Given the description of an element on the screen output the (x, y) to click on. 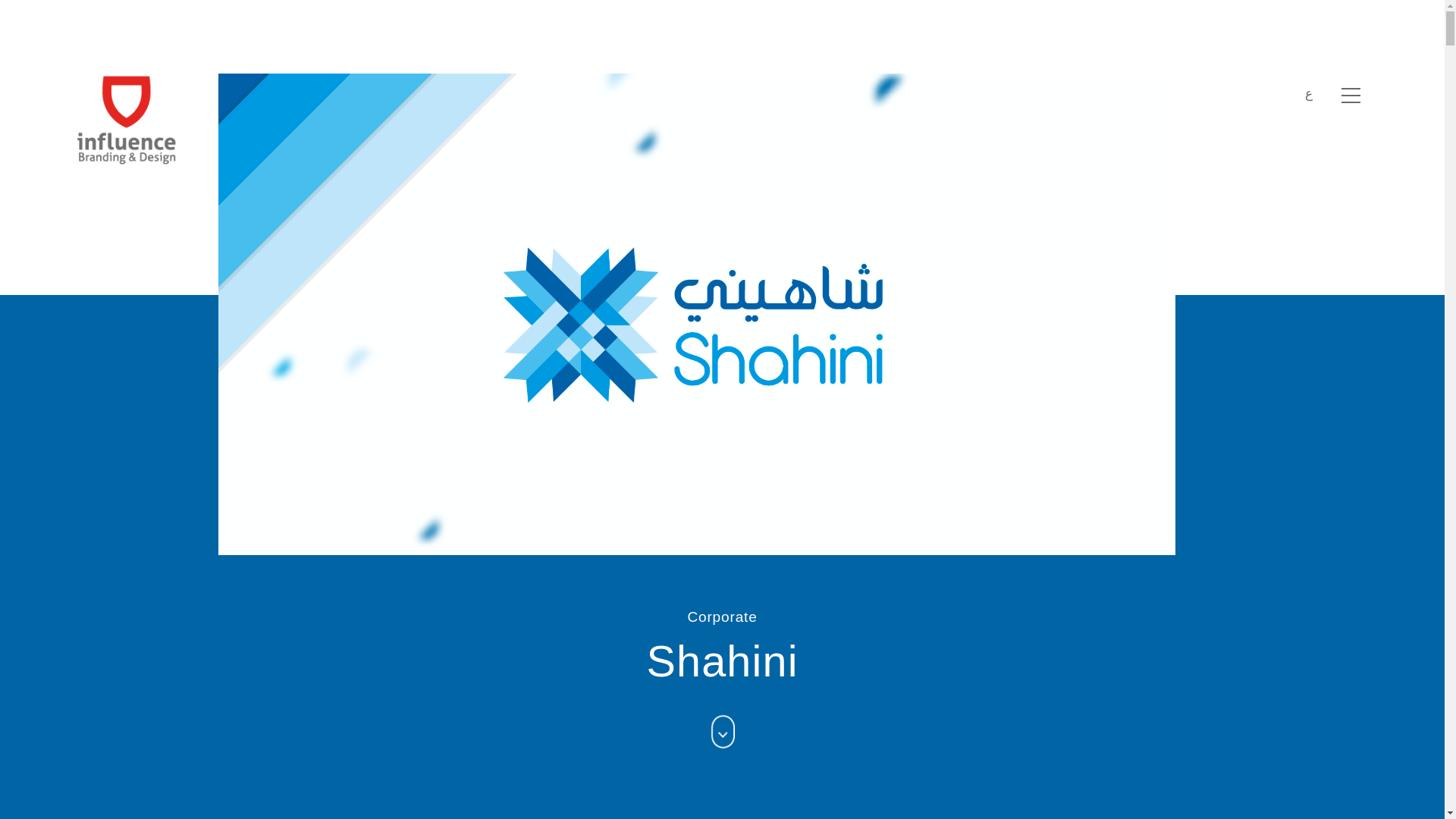
Influence Branding (126, 119)
